Given the description of an element on the screen output the (x, y) to click on. 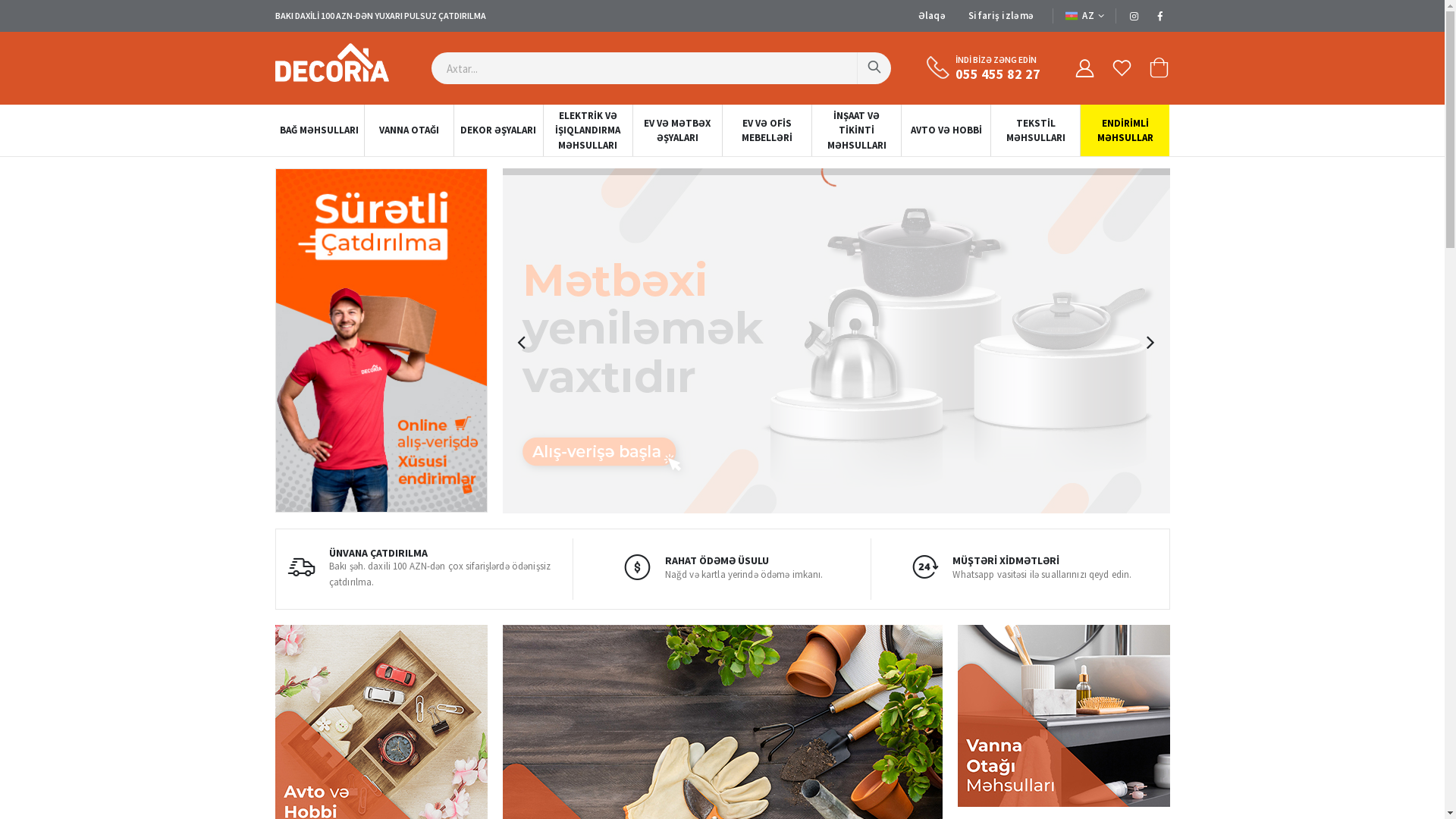
055 455 82 27 Element type: text (997, 73)
AZ Element type: text (1083, 15)
